Given the description of an element on the screen output the (x, y) to click on. 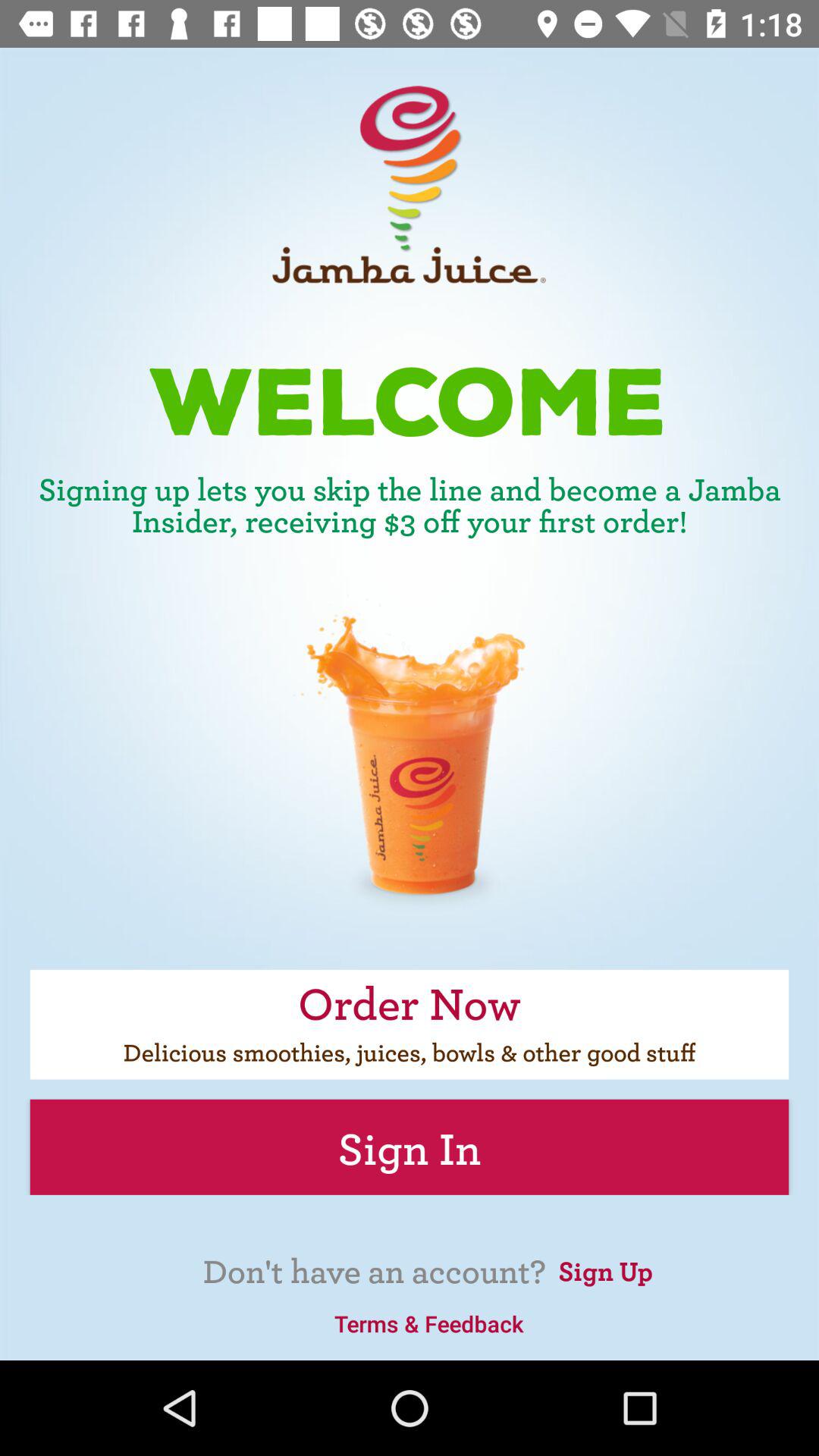
open terms & feedback item (428, 1323)
